Given the description of an element on the screen output the (x, y) to click on. 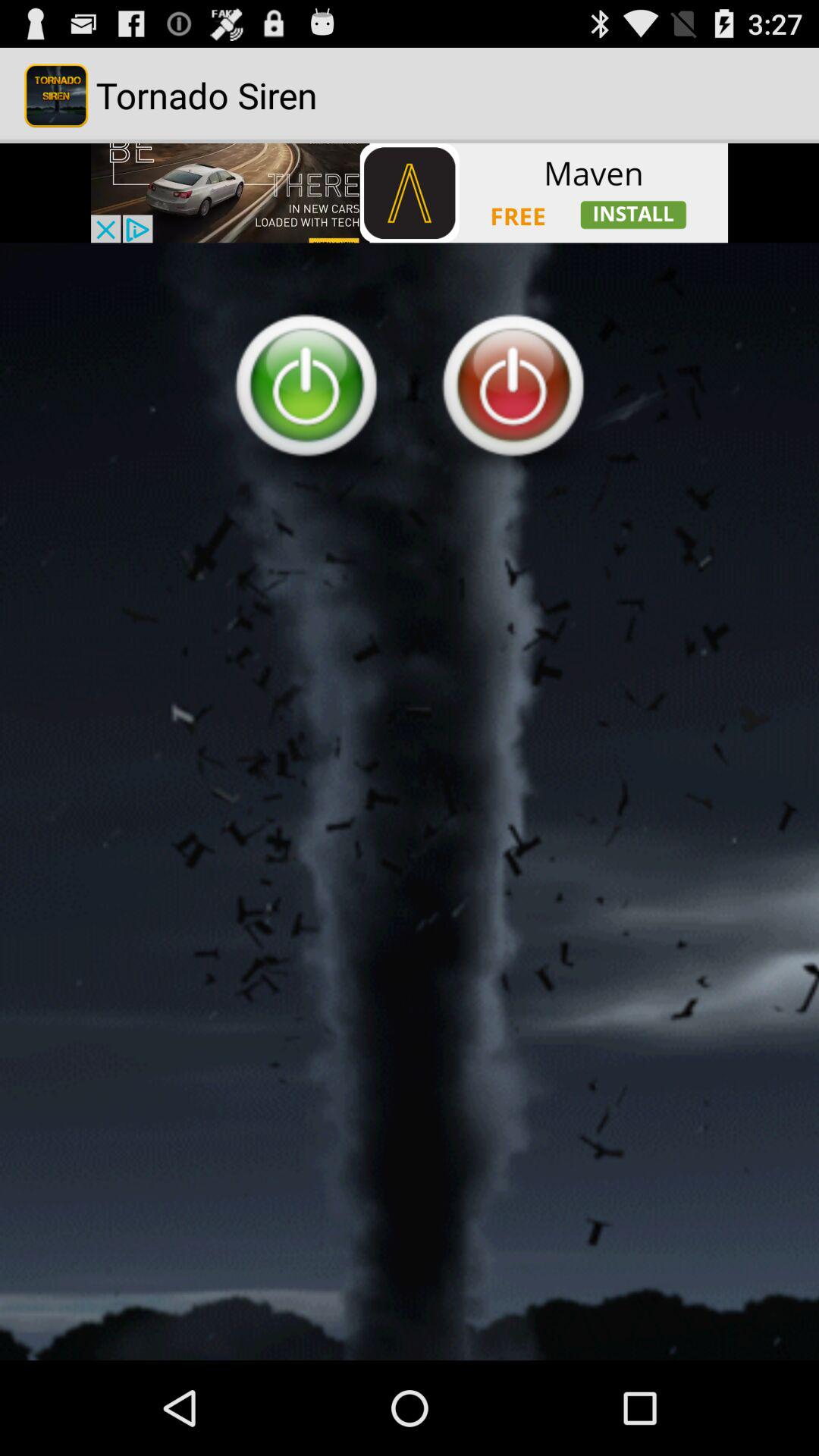
open the advertisement (409, 192)
